Given the description of an element on the screen output the (x, y) to click on. 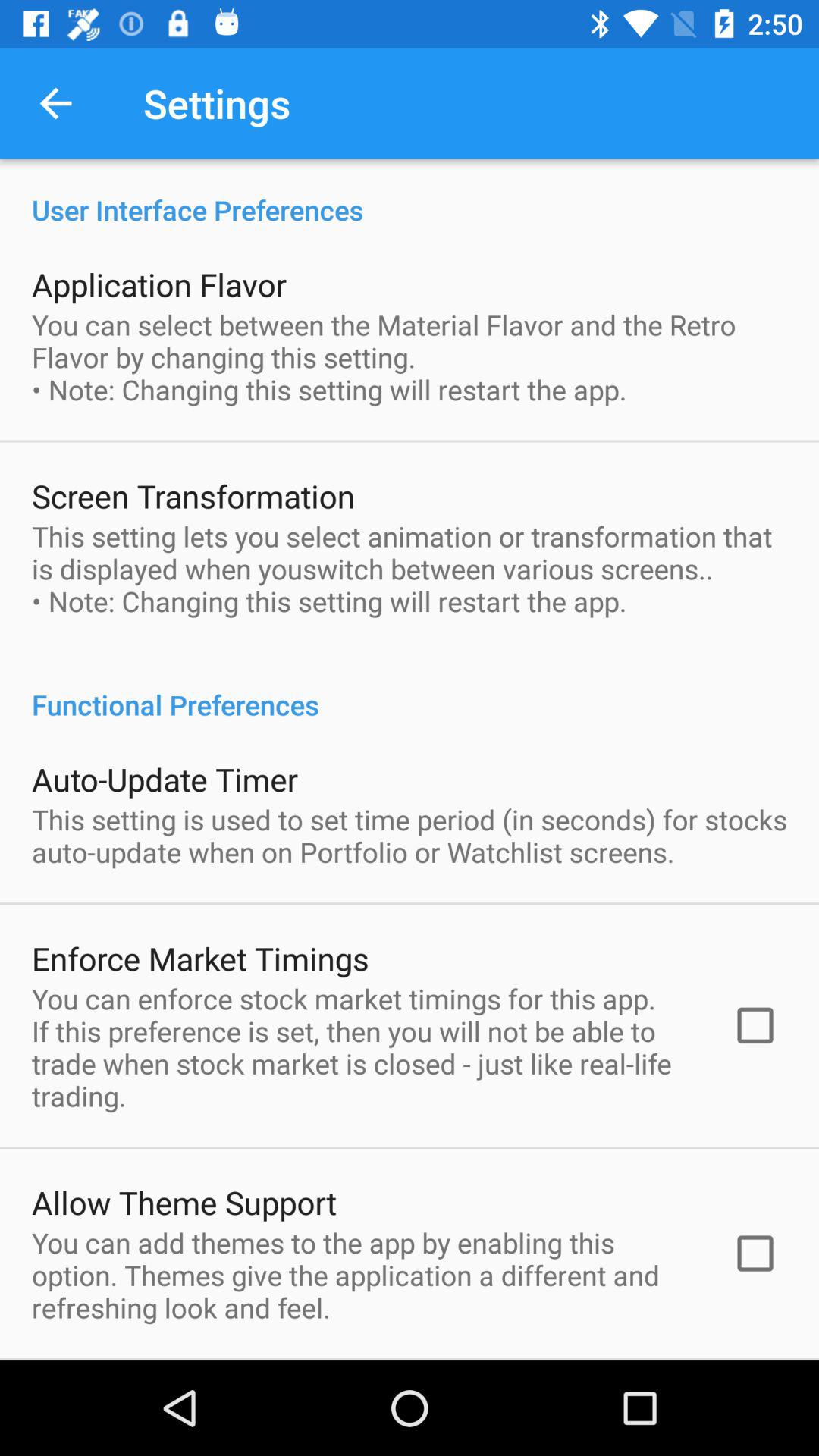
select icon above the user interface preferences icon (55, 103)
